Given the description of an element on the screen output the (x, y) to click on. 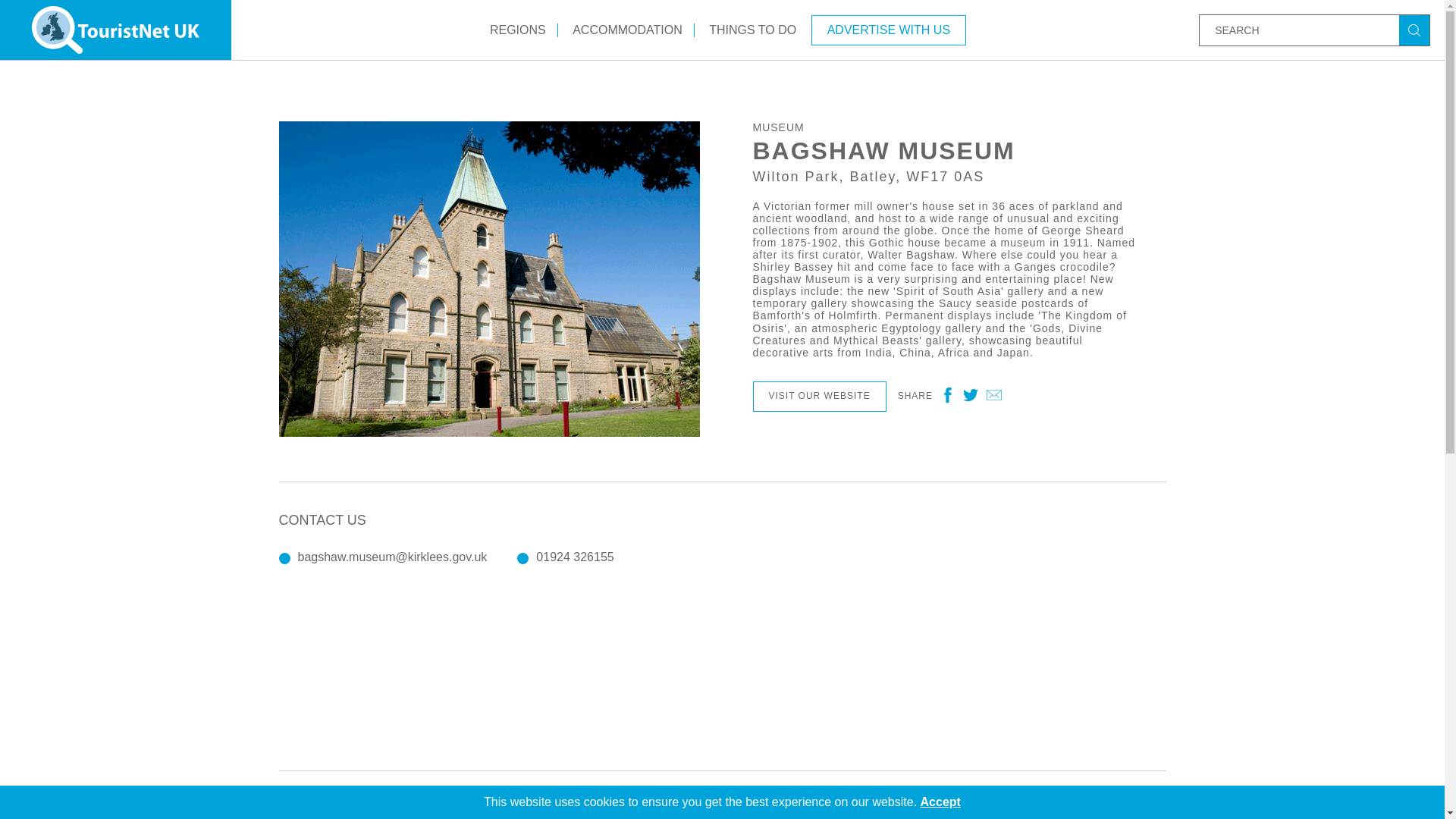
REGIONS (518, 29)
Accept (940, 801)
